Given the description of an element on the screen output the (x, y) to click on. 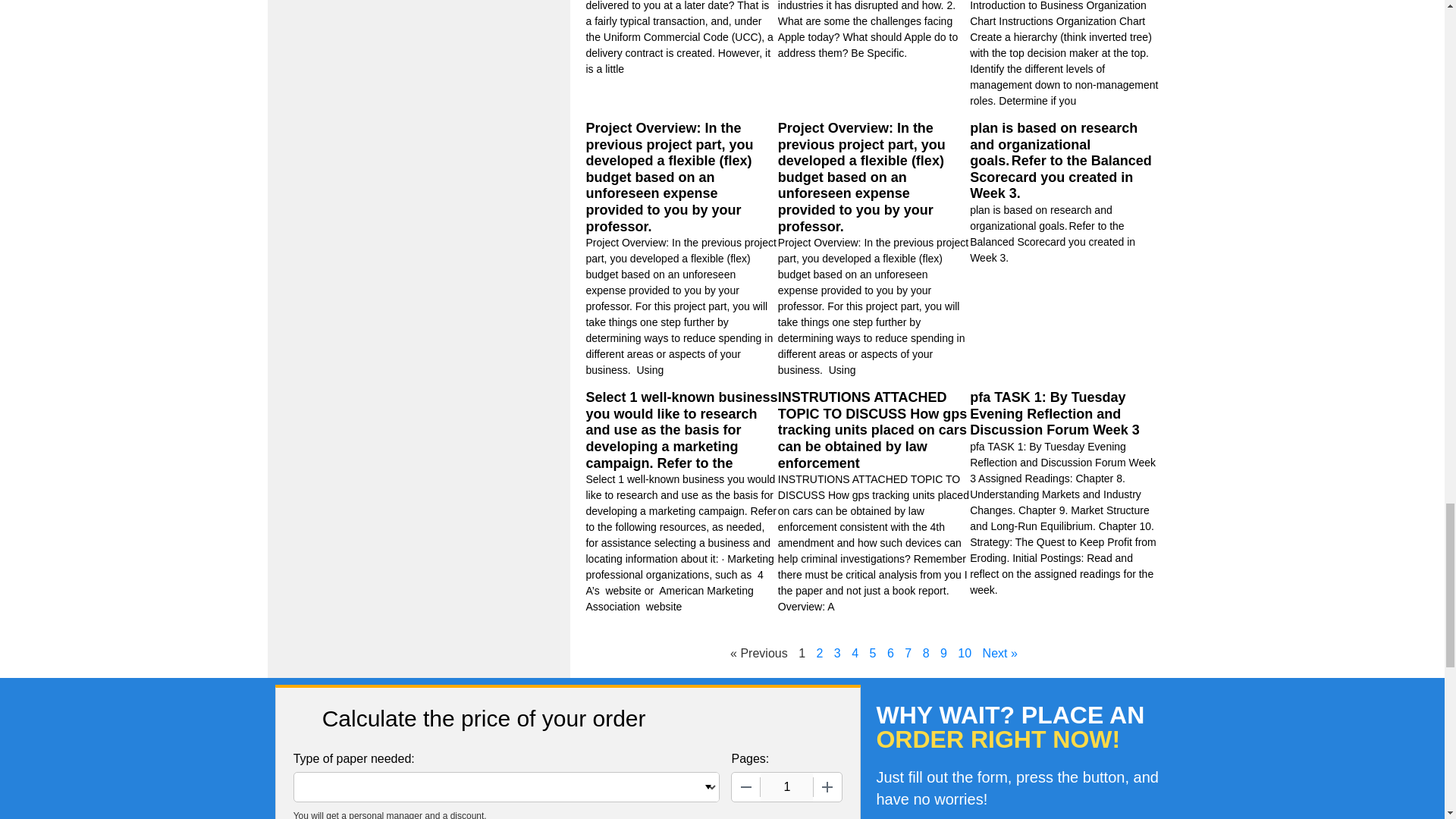
1 (786, 787)
Increase (826, 787)
Decrease (746, 787)
